Given the description of an element on the screen output the (x, y) to click on. 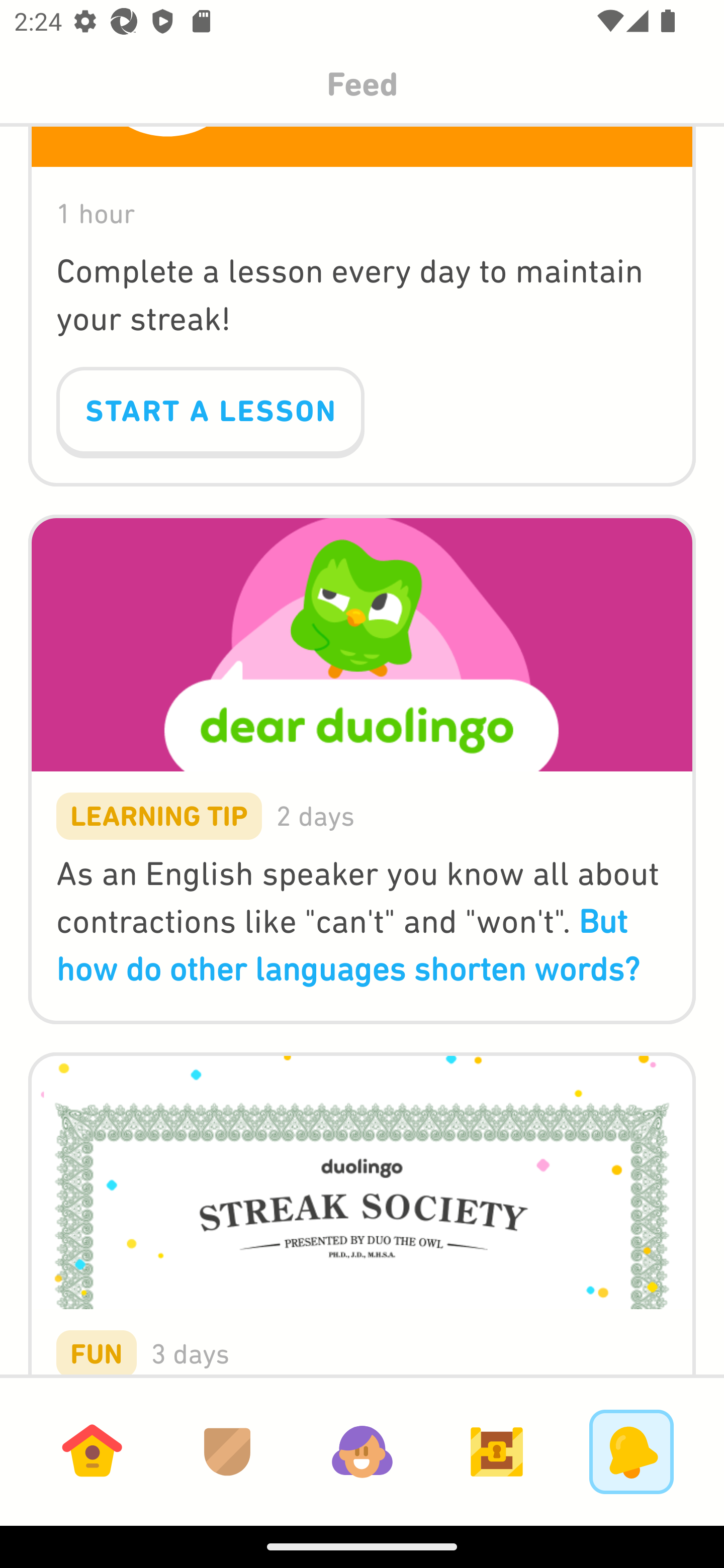
START A LESSON (210, 411)
FUN ‎3‎ days (361, 1199)
Learn Tab (91, 1451)
Leagues Tab (227, 1451)
Profile Tab (361, 1451)
Goals Tab (496, 1451)
News Tab (631, 1451)
